Given the description of an element on the screen output the (x, y) to click on. 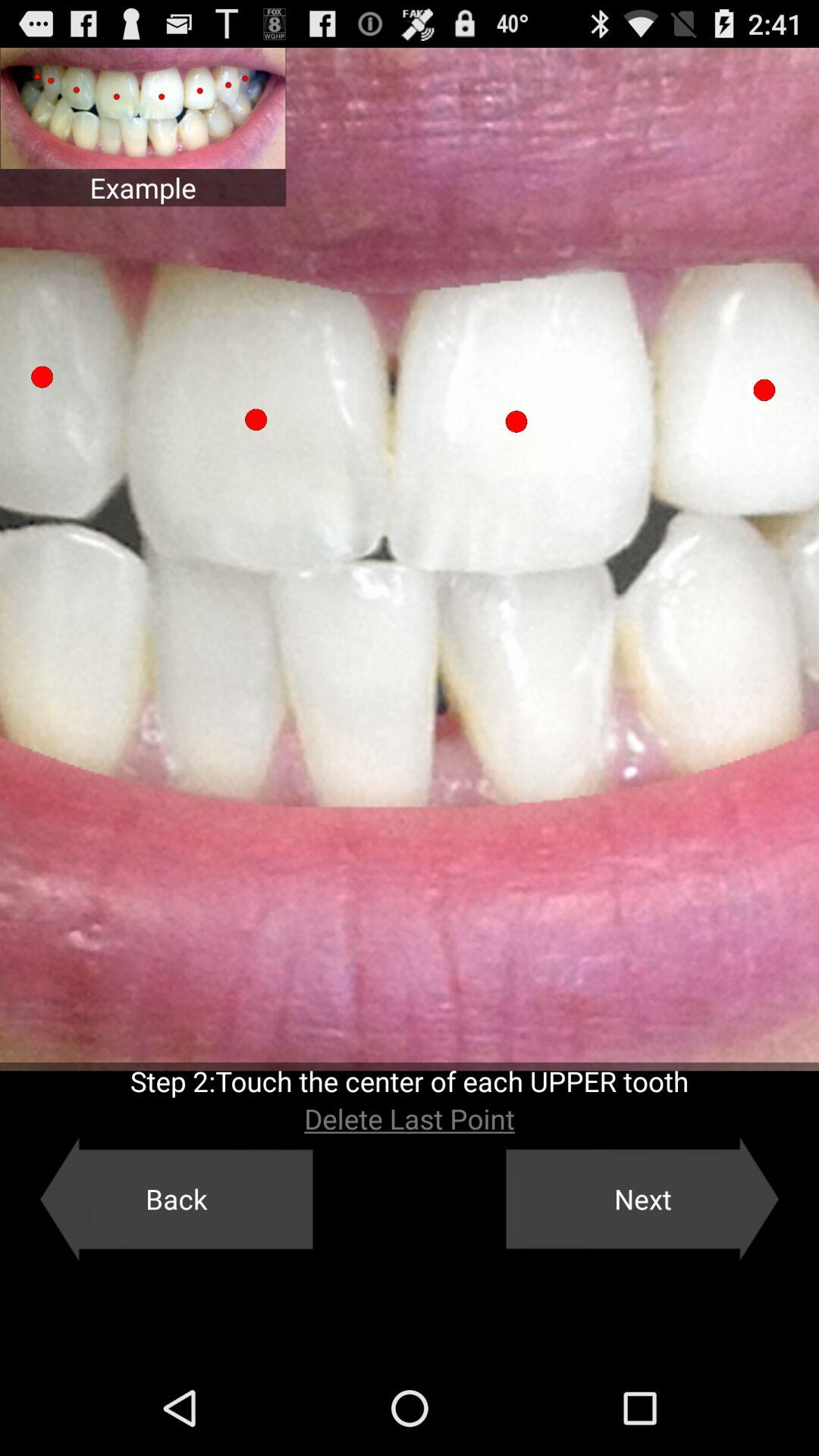
launch the back icon (175, 1198)
